Given the description of an element on the screen output the (x, y) to click on. 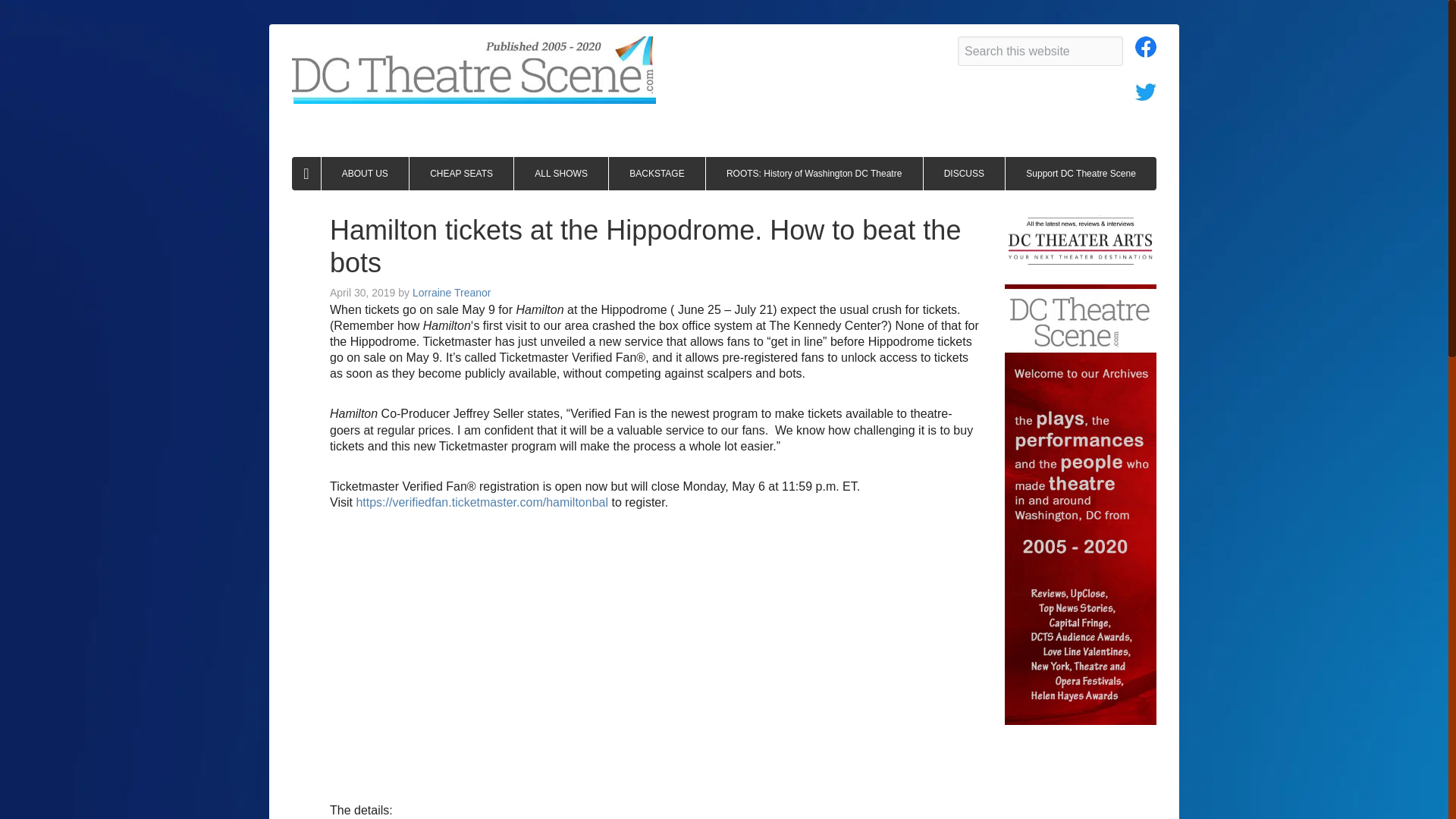
BACKSTAGE (657, 173)
Lorraine Treanor (452, 292)
Follow DC Theatre Scene on Facebook (1145, 51)
ROOTS: History of Washington DC Theatre (814, 173)
ABOUT US (365, 173)
DISCUSS (964, 173)
Support DC Theatre Scene (1081, 173)
